Given the description of an element on the screen output the (x, y) to click on. 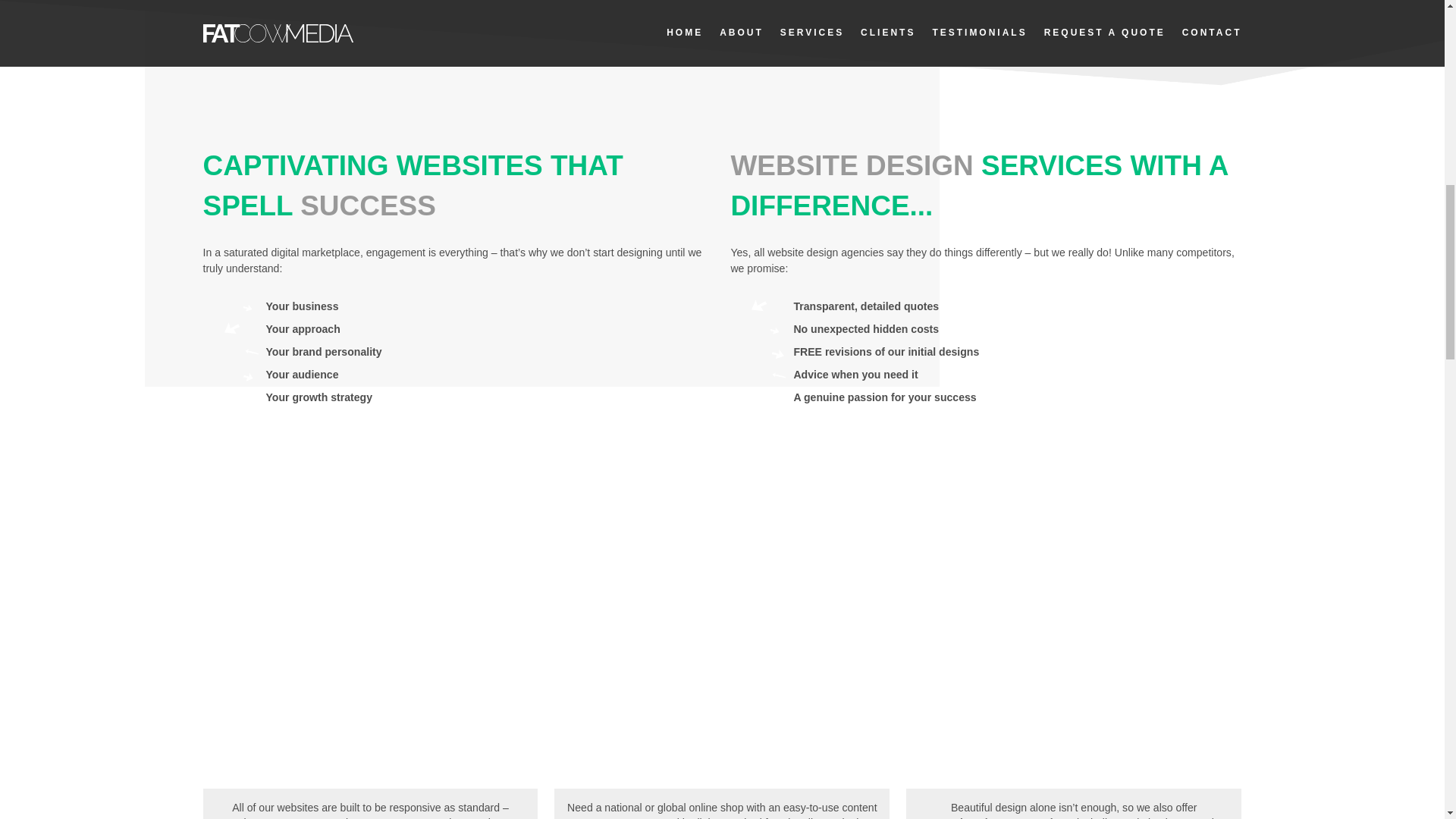
comprehensive SEO services (995, 817)
